Given the description of an element on the screen output the (x, y) to click on. 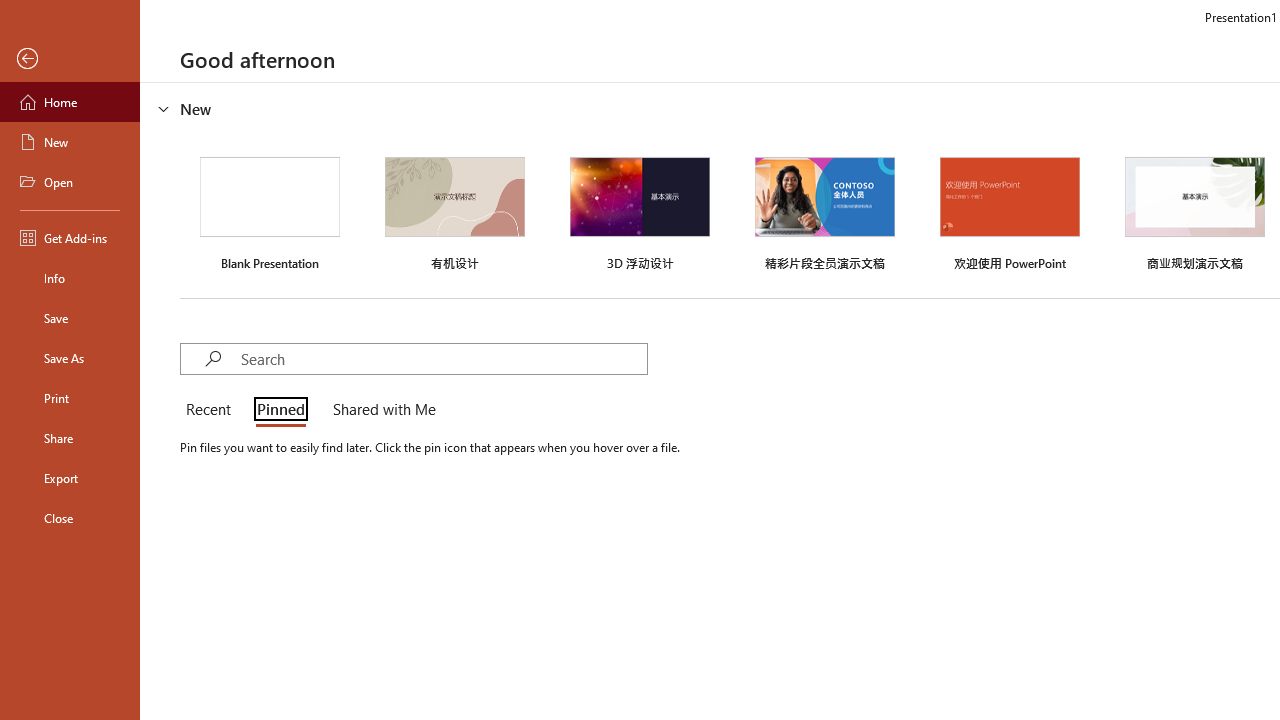
Print (69, 398)
Recent (212, 410)
Search (443, 358)
Export (69, 477)
Info (69, 277)
Open (69, 182)
Pinned (280, 410)
Blank Presentation (269, 211)
Save As (69, 357)
